Given the description of an element on the screen output the (x, y) to click on. 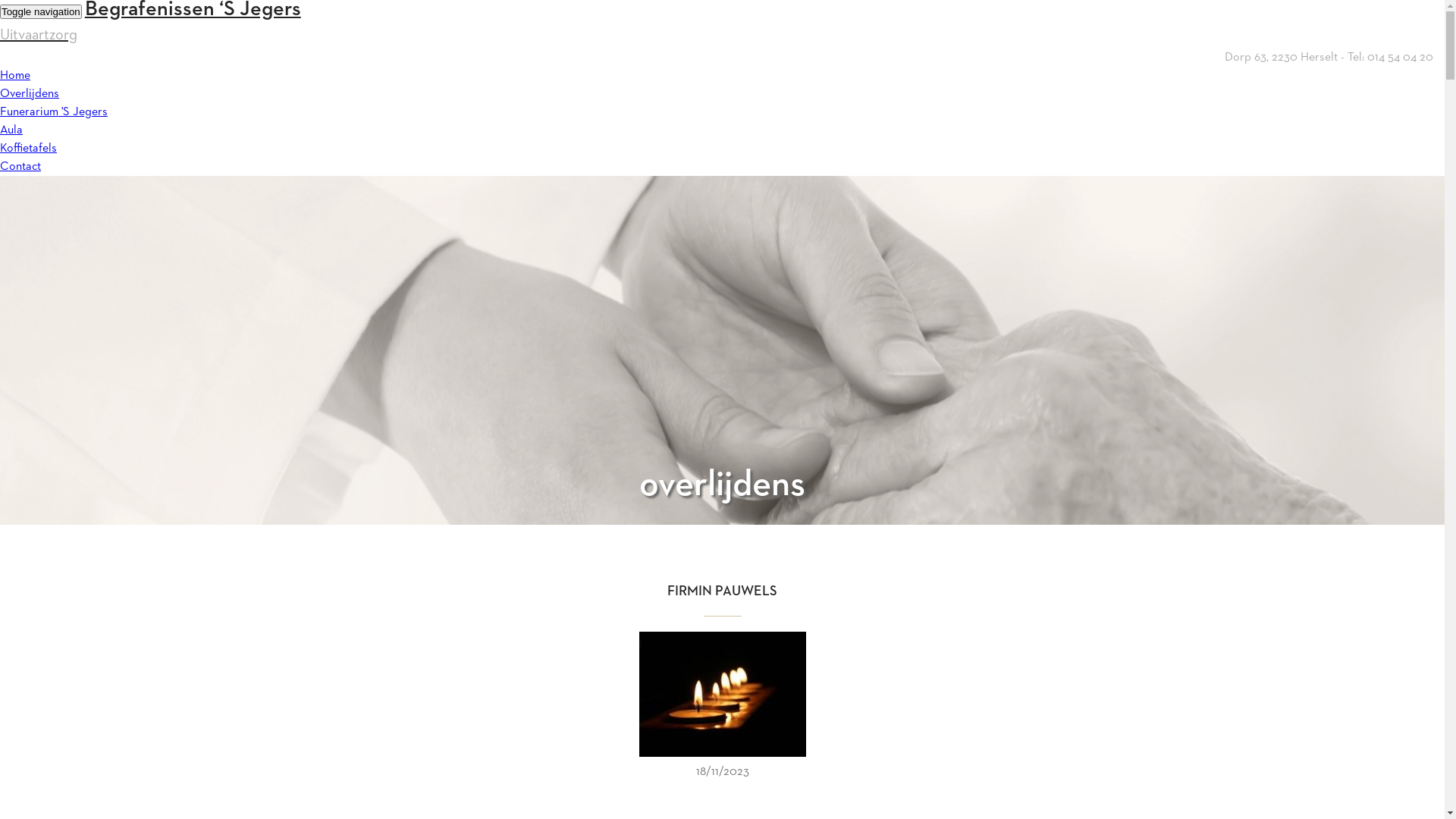
Toggle navigation Element type: text (40, 11)
Overlijdens Element type: text (29, 105)
Skip to main content Element type: text (0, 0)
Aula Element type: text (11, 142)
Koffietafels Element type: text (28, 160)
Contact Element type: text (20, 178)
Home Element type: text (15, 87)
Funerarium 'S Jegers Element type: text (53, 124)
